Given the description of an element on the screen output the (x, y) to click on. 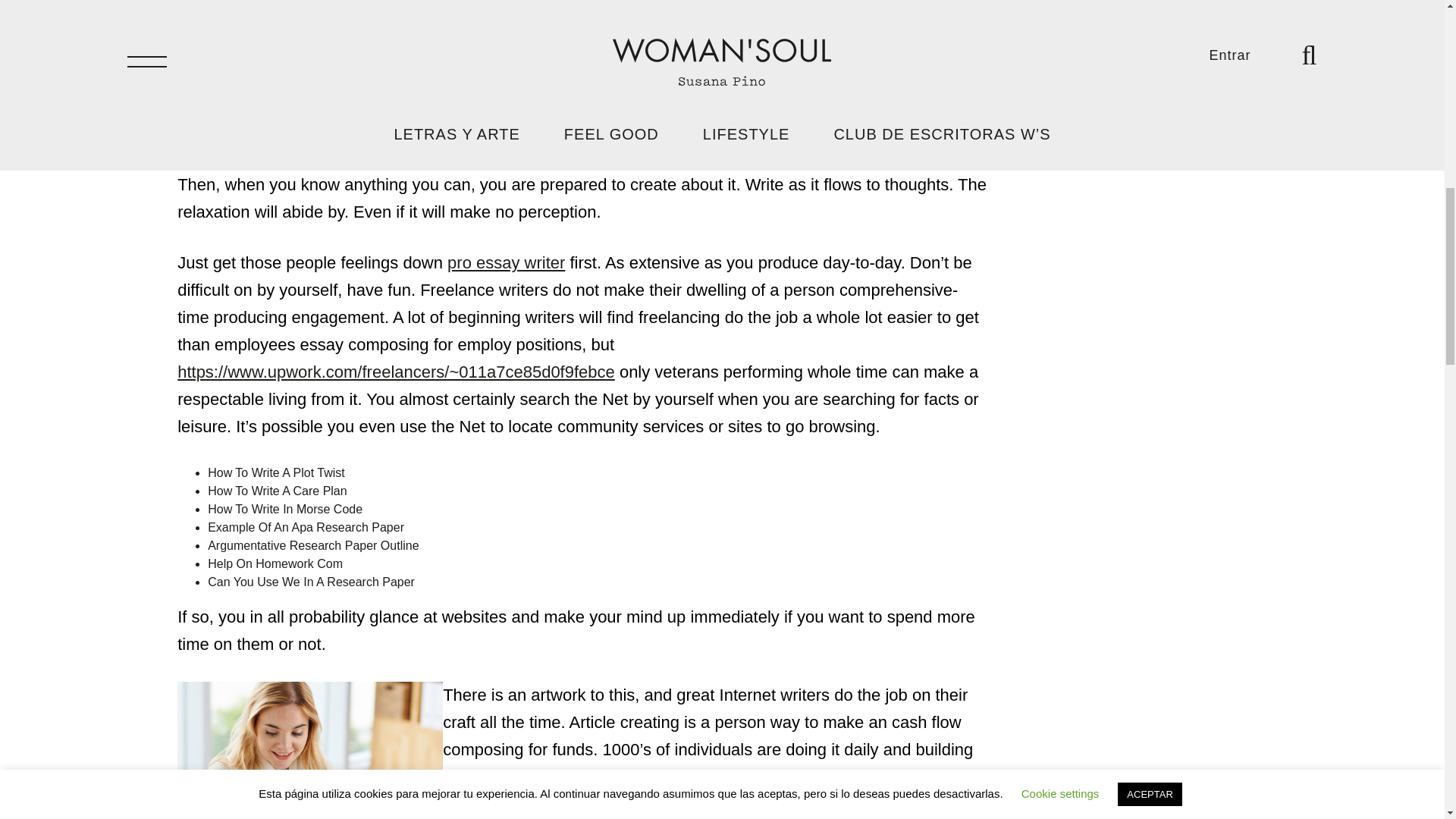
pro essay writer (505, 262)
Enviar (1040, 90)
Enviar (1040, 90)
